Given the description of an element on the screen output the (x, y) to click on. 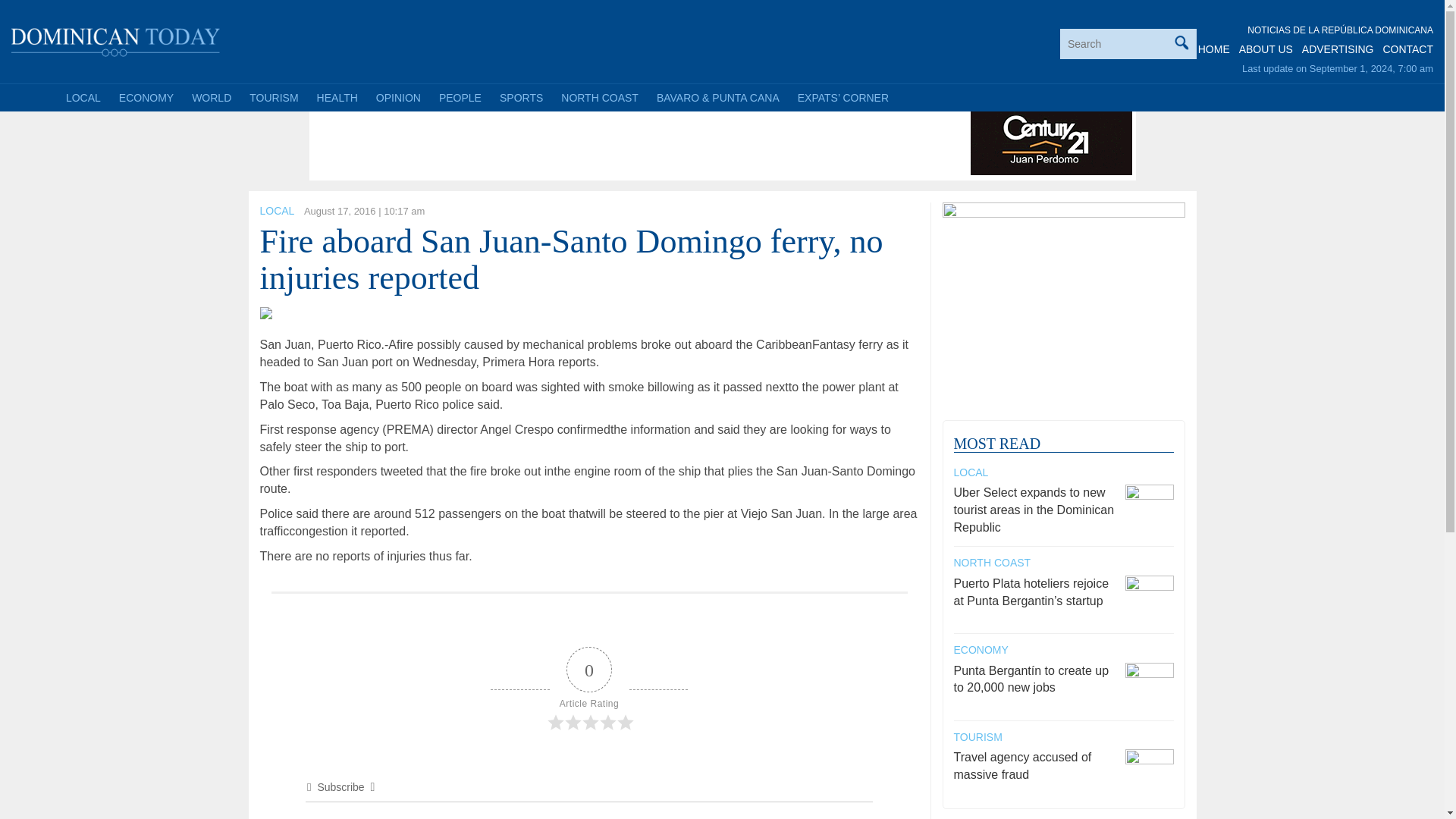
NORTH COAST (599, 97)
HOME (1214, 49)
WORLD (211, 97)
HEALTH (336, 97)
PEOPLE (459, 97)
ECONOMY (146, 97)
ABOUT US (1265, 49)
TOURISM (273, 97)
OPINION (397, 97)
LOCAL (276, 210)
